Given the description of an element on the screen output the (x, y) to click on. 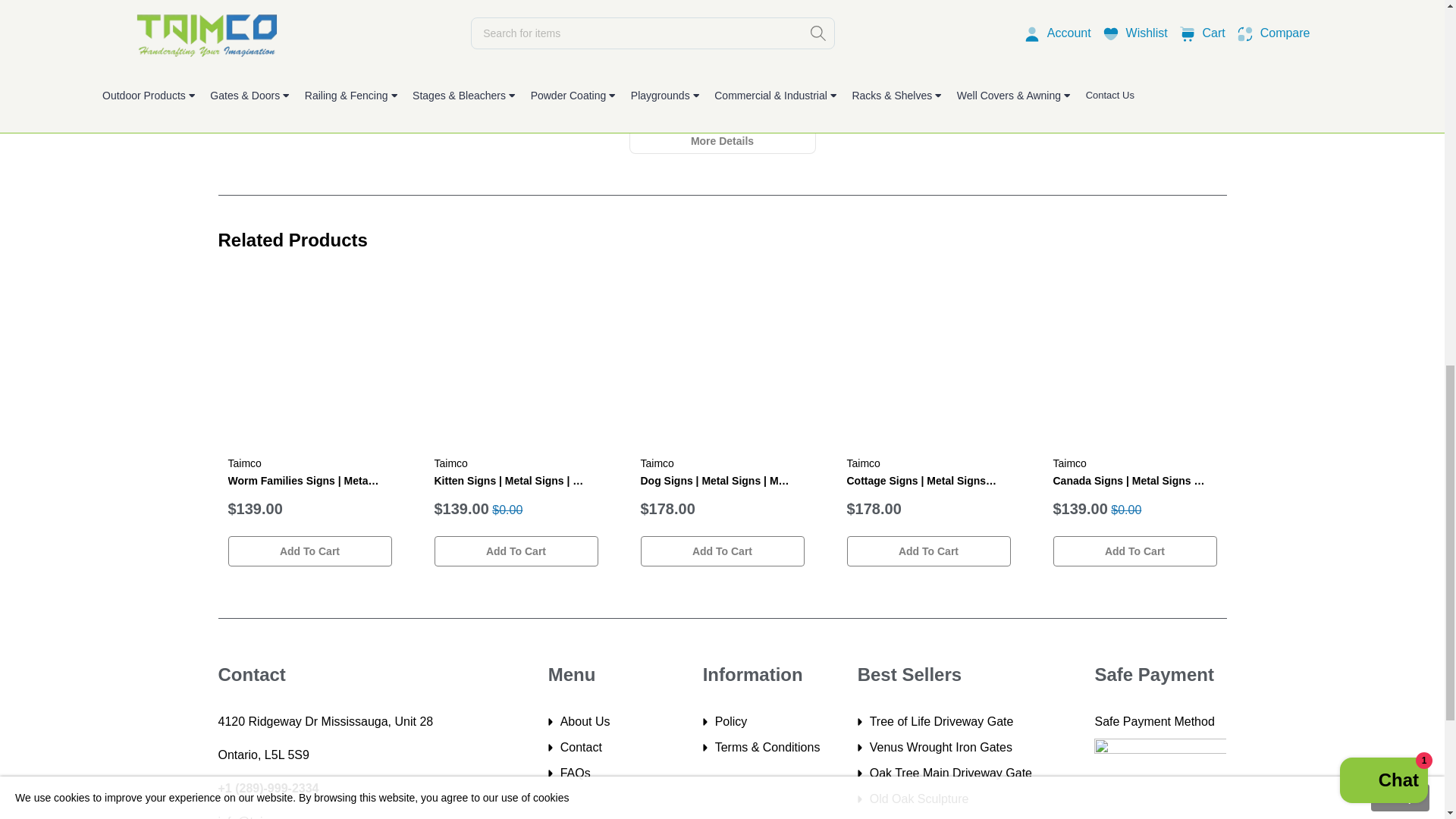
Taimco (656, 463)
Taimco (243, 463)
Taimco (862, 463)
Taimco (450, 463)
Taimco (1069, 463)
